Given the description of an element on the screen output the (x, y) to click on. 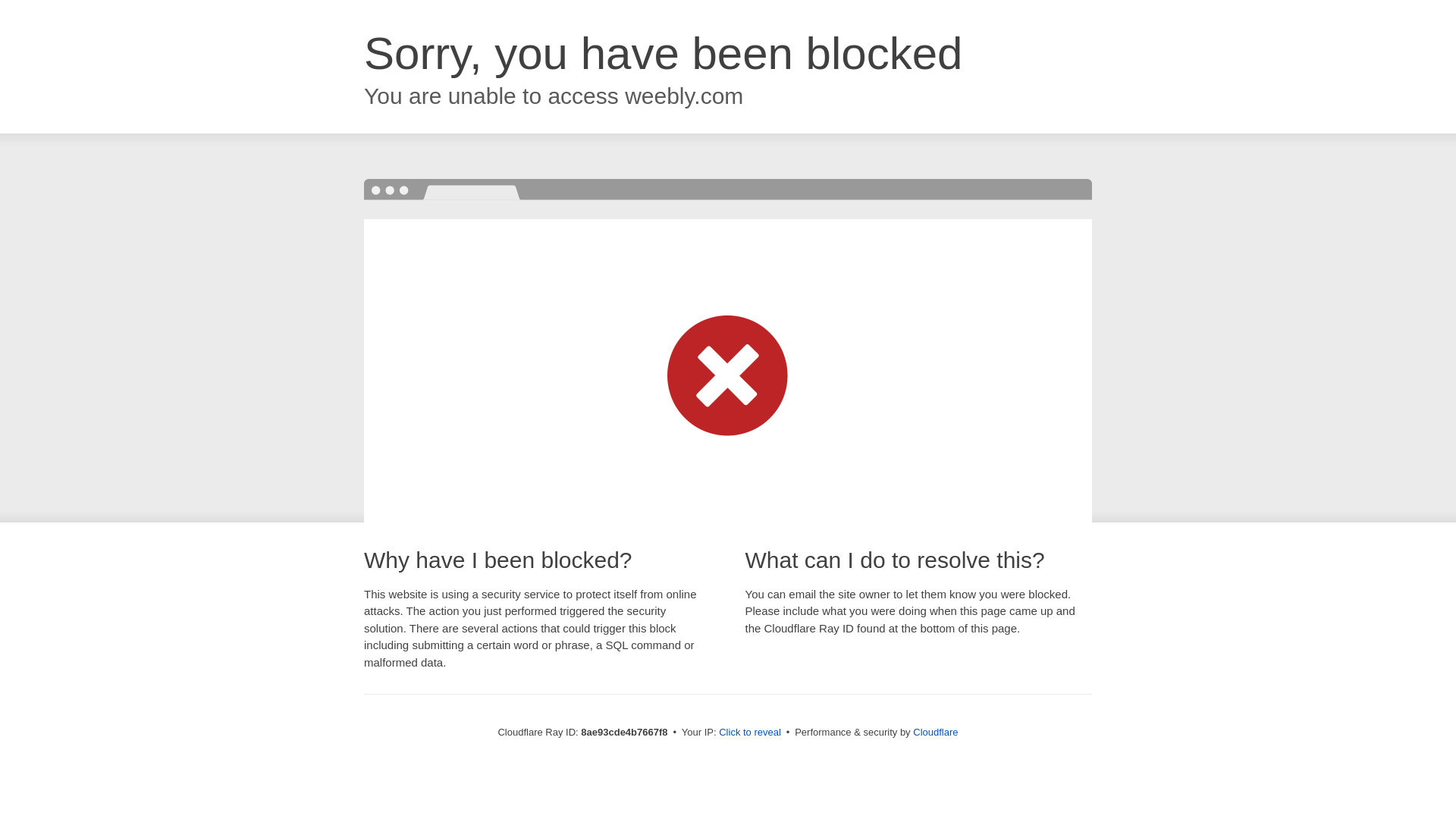
Click to reveal (749, 732)
Cloudflare (935, 731)
